Given the description of an element on the screen output the (x, y) to click on. 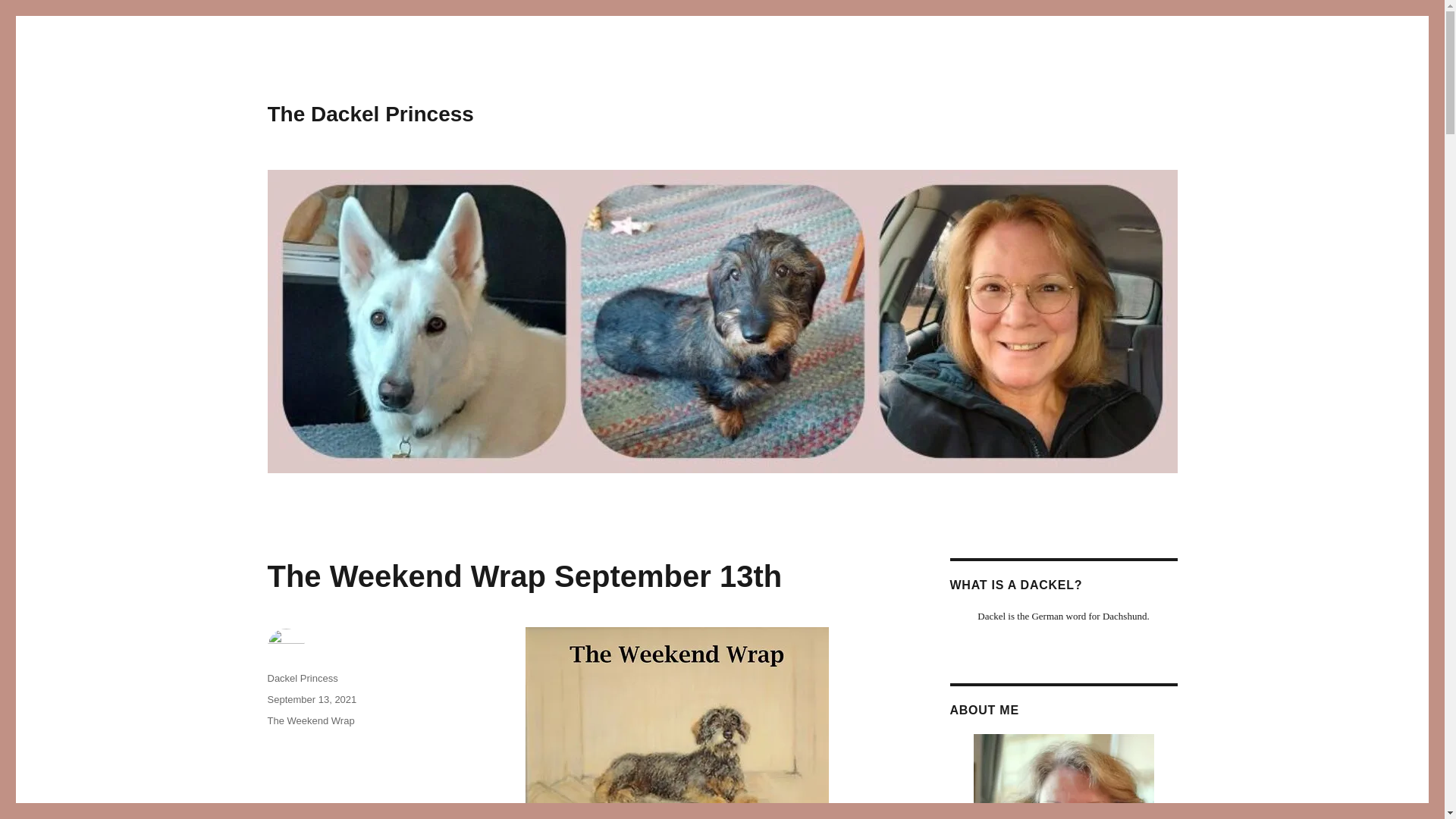
Dackel Princess (301, 677)
September 13, 2021 (311, 699)
The weekend wrap 2 (676, 723)
The Dackel Princess (369, 114)
The Weekend Wrap (309, 720)
